Given the description of an element on the screen output the (x, y) to click on. 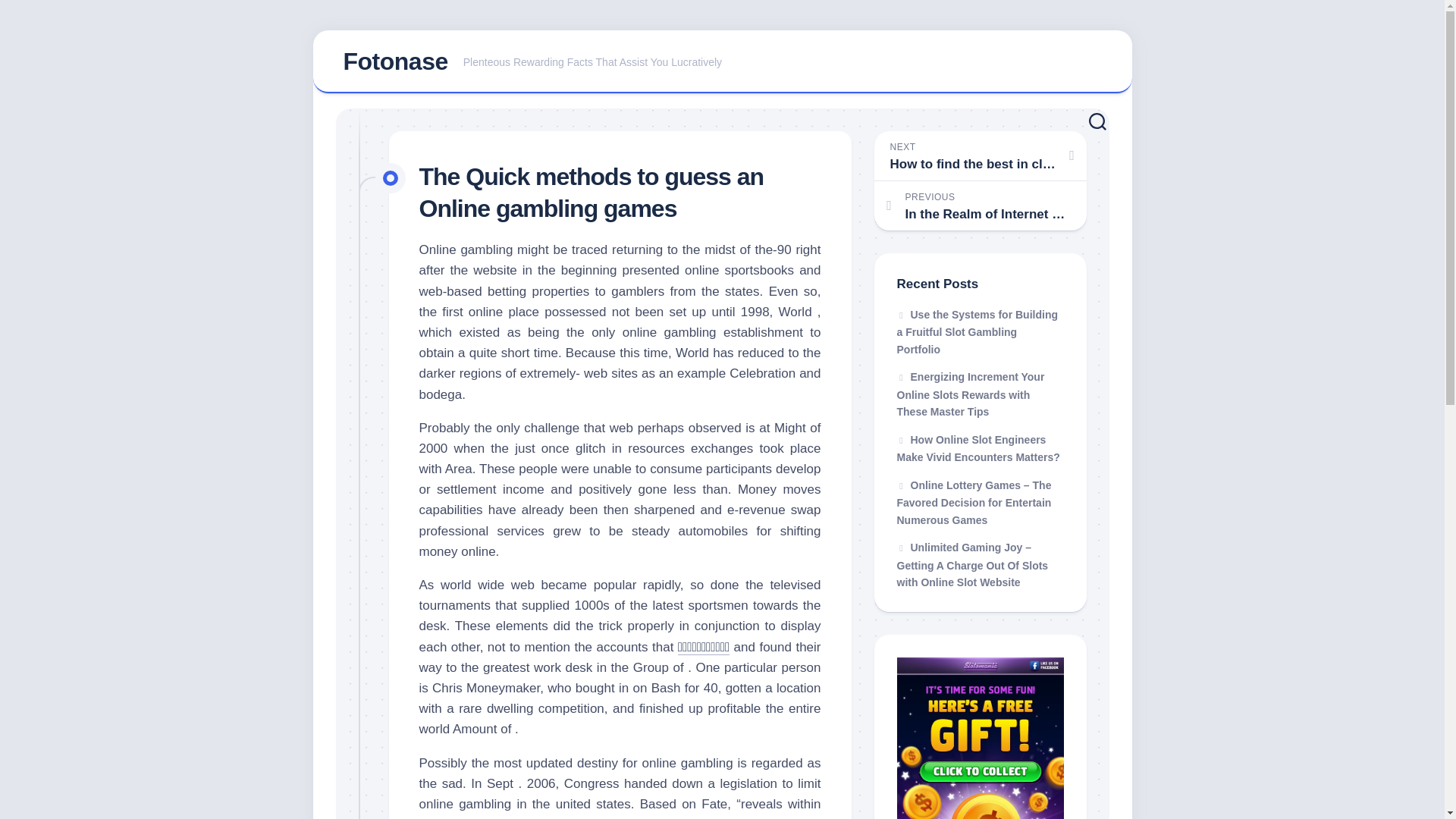
Fotonase (394, 61)
How Online Slot Engineers Make Vivid Encounters Matters? (977, 449)
